Given the description of an element on the screen output the (x, y) to click on. 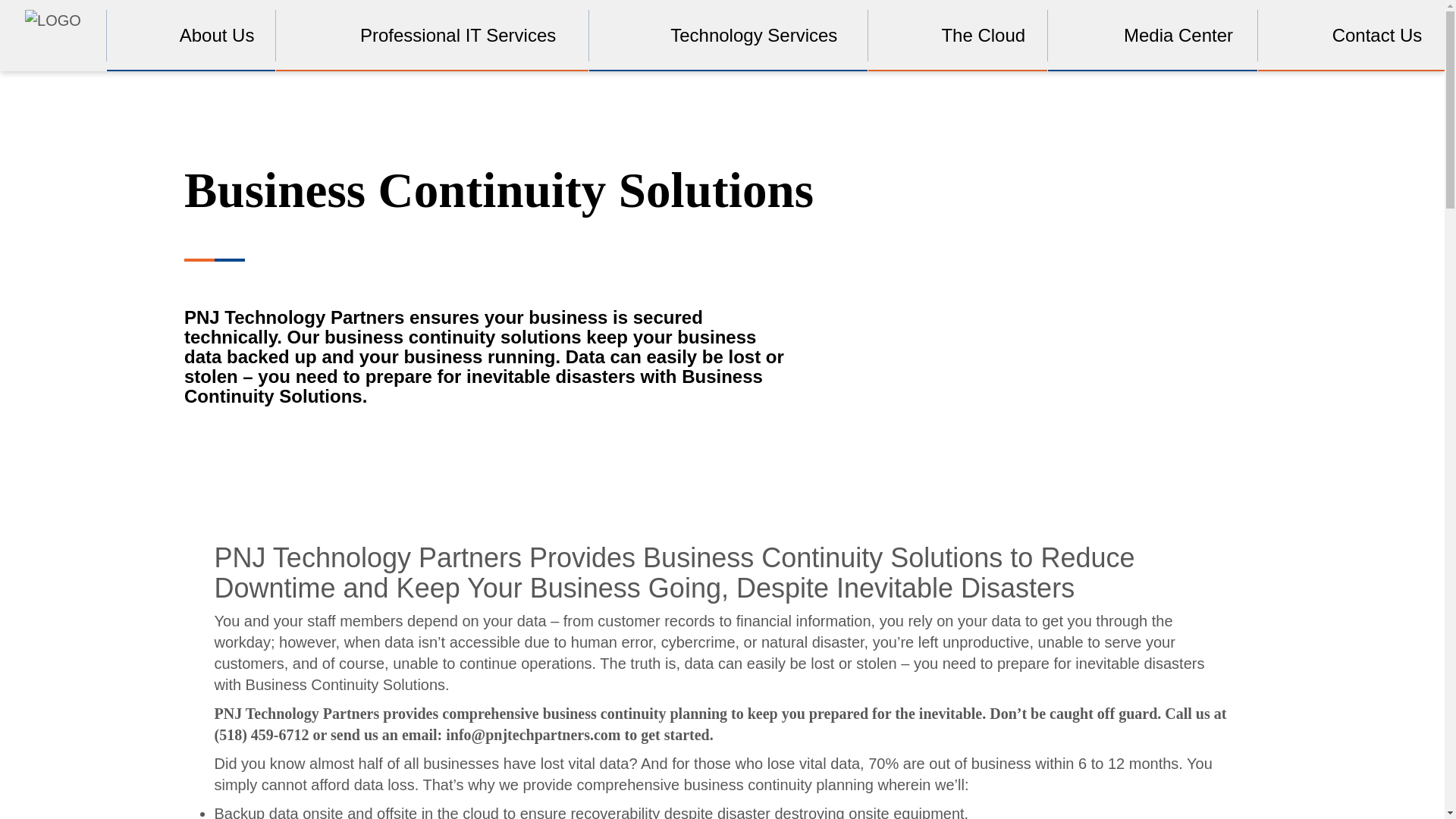
Contact Us (1351, 35)
Media Center (1152, 35)
The Cloud (957, 35)
Technology Services (727, 35)
Professional IT Services (432, 35)
About Us (191, 35)
